Given the description of an element on the screen output the (x, y) to click on. 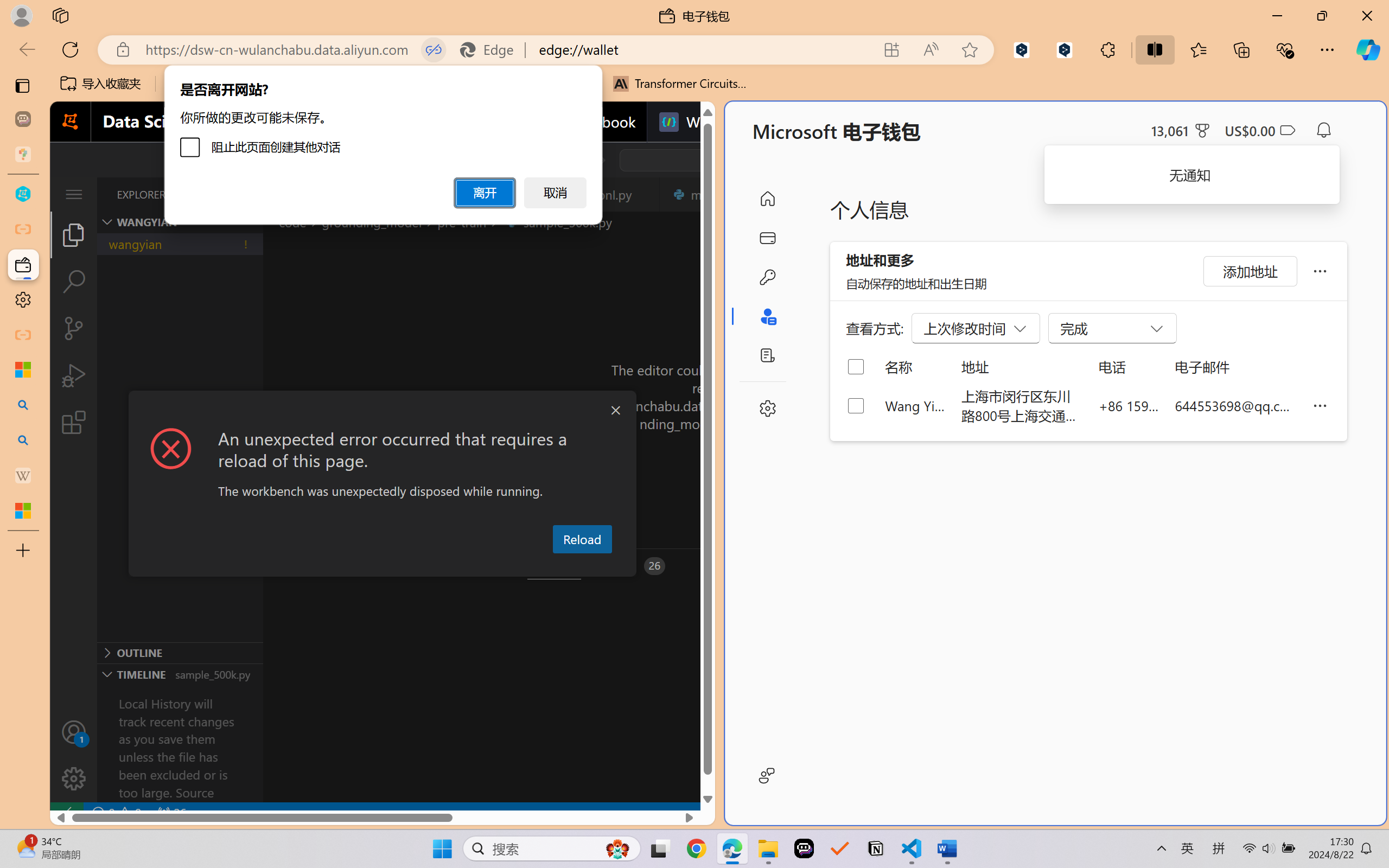
Source Control (Ctrl+Shift+G) (73, 328)
Outline Section (179, 652)
Class: ___1lmltc5 f1agt3bx f12qytpq (1286, 130)
Extensions (Ctrl+Shift+X) (73, 422)
Ports - 26 forwarded ports (632, 565)
Terminal actions (1002, 565)
Output (Ctrl+Shift+U) (377, 565)
